Given the description of an element on the screen output the (x, y) to click on. 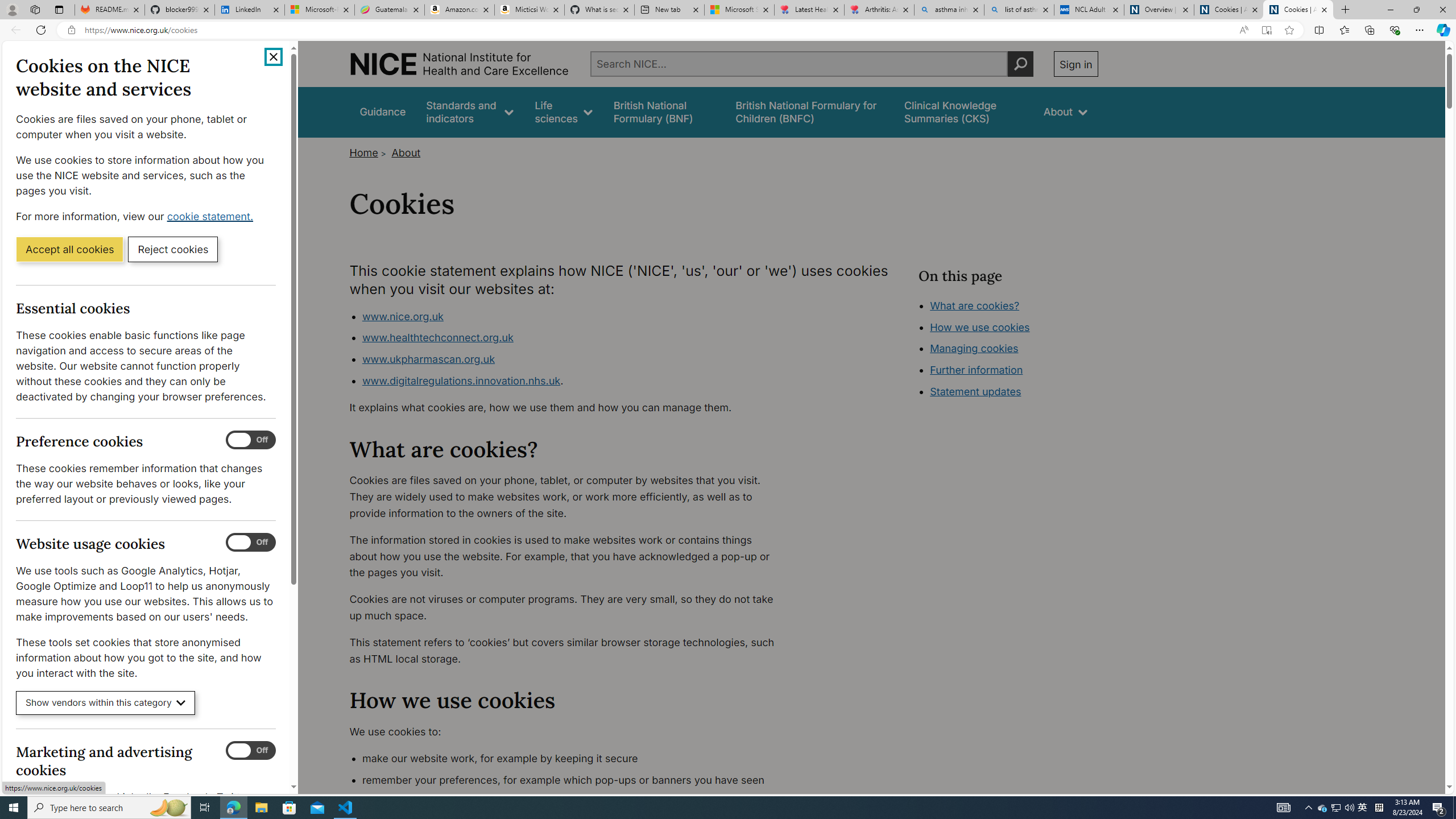
www.healthtechconnect.org.uk (437, 337)
About (405, 152)
Sign in (1074, 63)
About (1064, 111)
www.nice.org.uk (575, 316)
What are cookies? (974, 305)
Home> (368, 152)
Marketing and advertising cookies (250, 750)
list of asthma inhalers uk - Search (1018, 9)
